Given the description of an element on the screen output the (x, y) to click on. 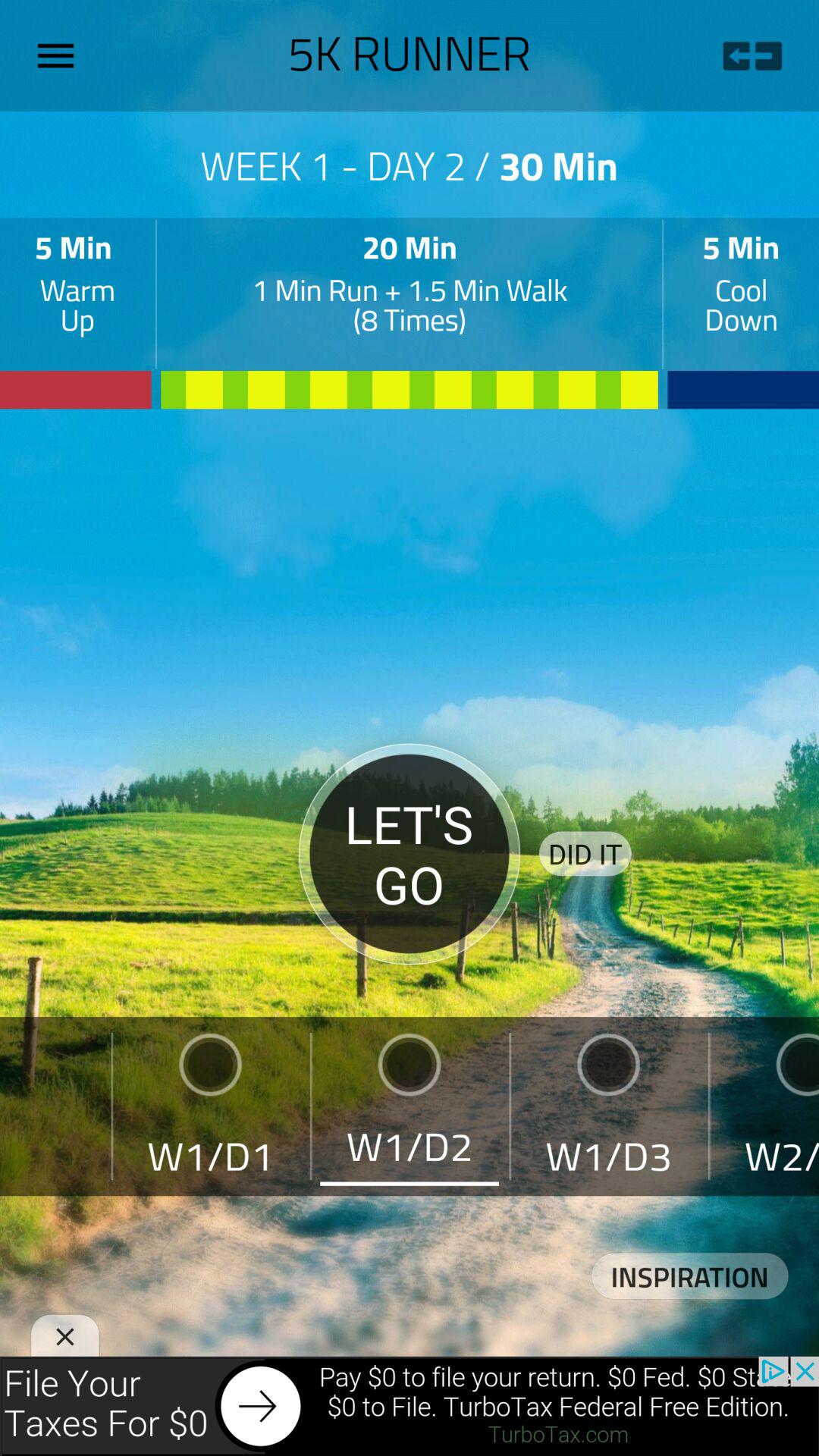
open menu (61, 55)
